Given the description of an element on the screen output the (x, y) to click on. 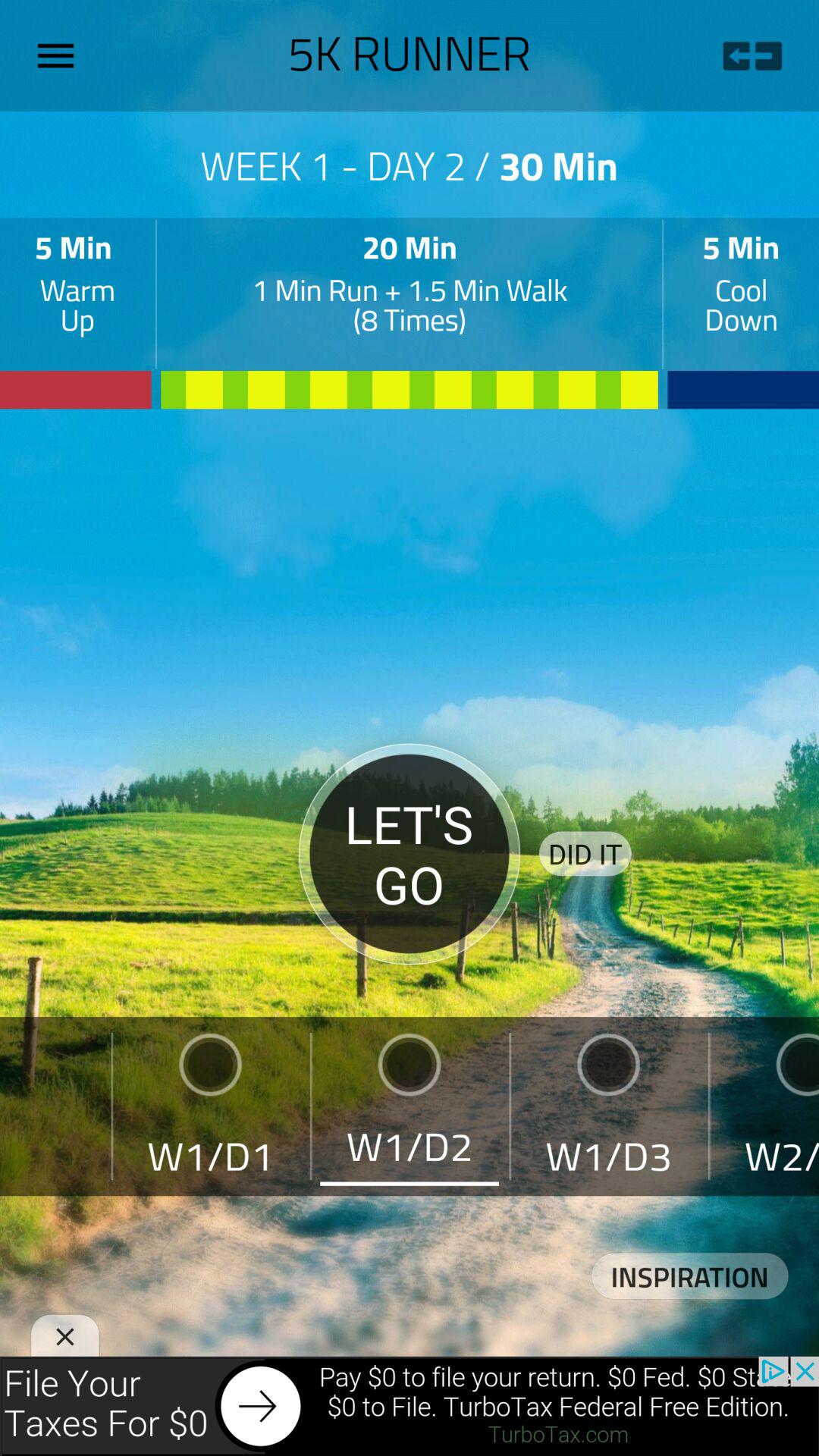
open menu (61, 55)
